Given the description of an element on the screen output the (x, y) to click on. 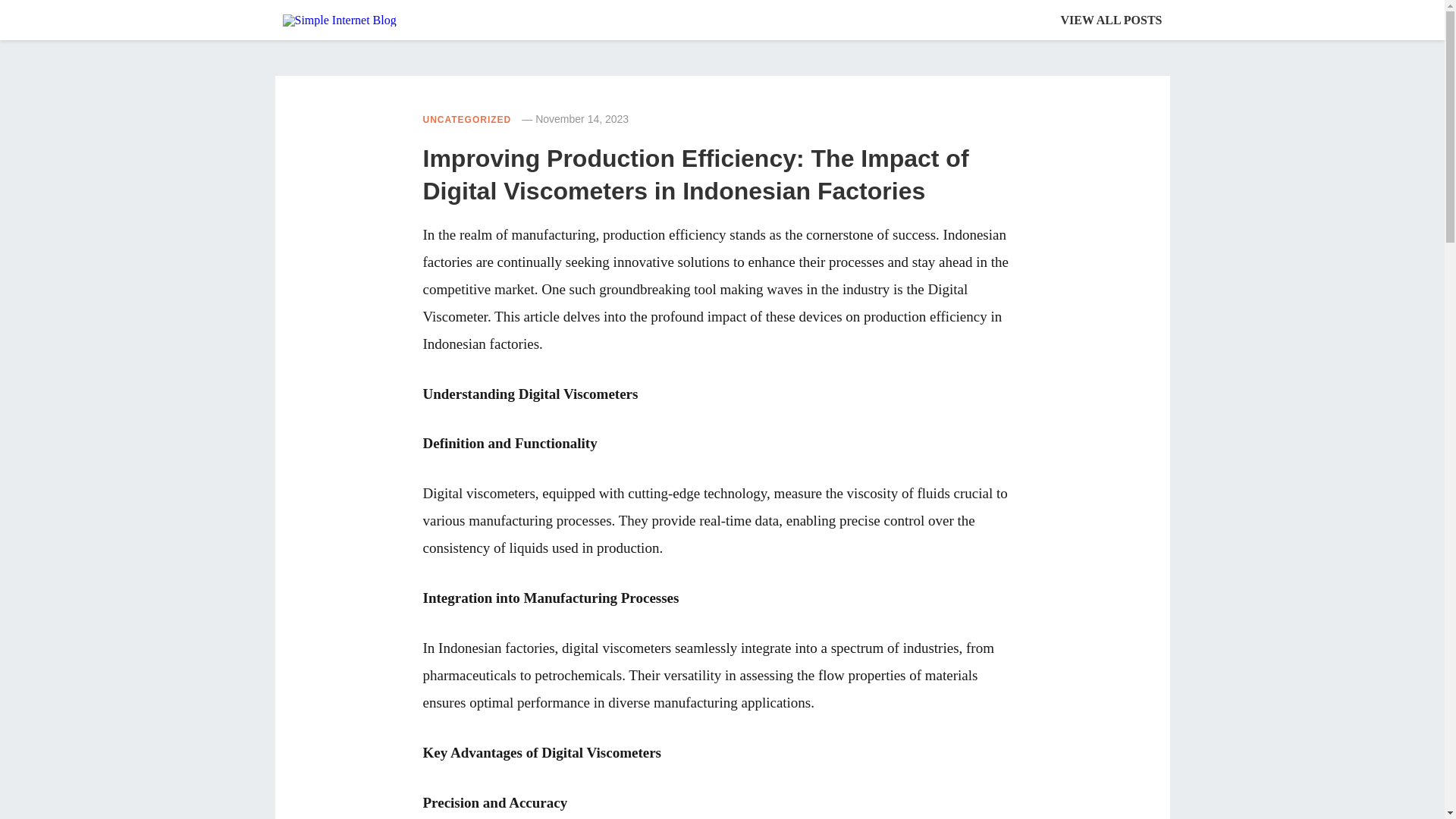
VIEW ALL POSTS (1111, 19)
UNCATEGORIZED (467, 119)
Neolo (339, 19)
